Given the description of an element on the screen output the (x, y) to click on. 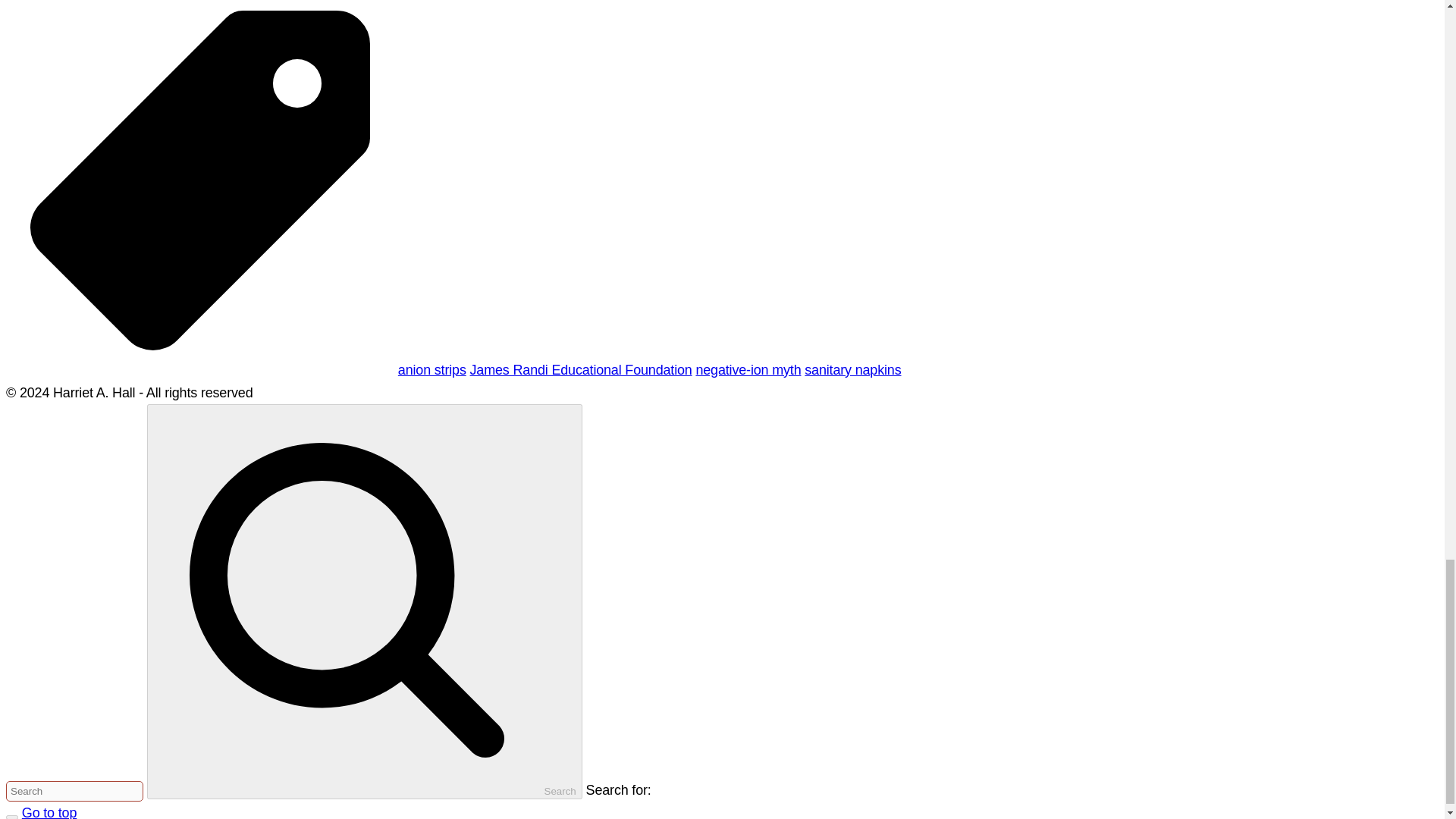
anion strips (431, 369)
negative-ion myth (747, 369)
sanitary napkins (853, 369)
James Randi Educational Foundation (581, 369)
